Given the description of an element on the screen output the (x, y) to click on. 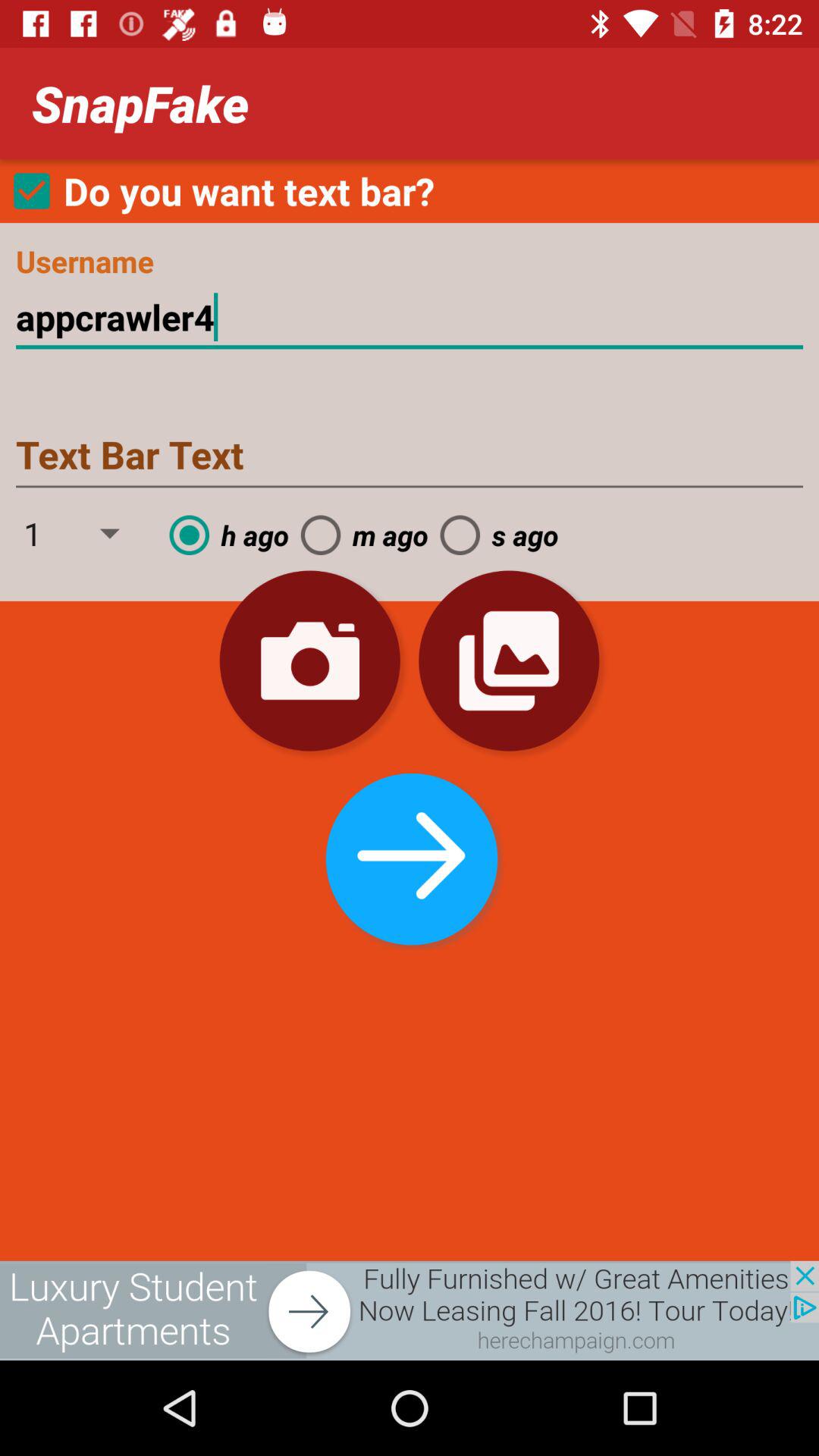
add the picture (409, 1310)
